Given the description of an element on the screen output the (x, y) to click on. 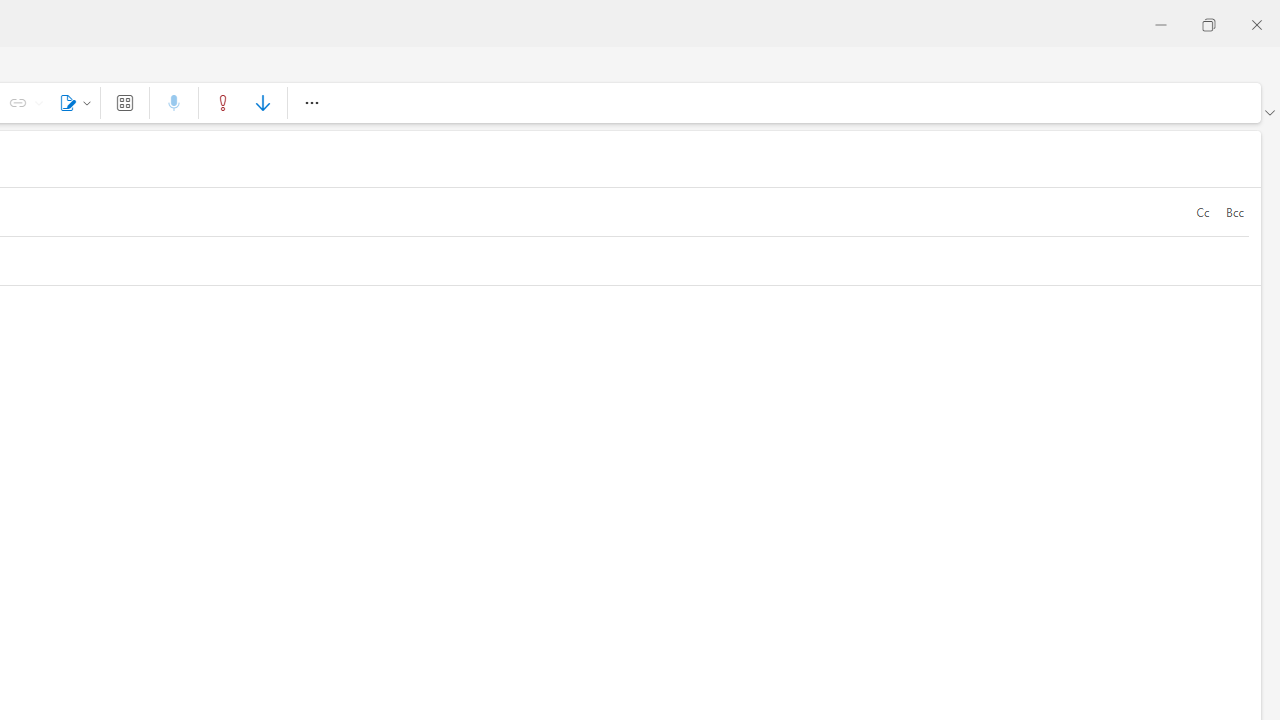
Low importance (262, 102)
Dictate (173, 102)
Cc (1202, 211)
Ribbon display options (1269, 112)
Bcc (1234, 211)
More options (311, 102)
Signature (71, 102)
High importance (223, 102)
Apps (124, 102)
Link (38, 102)
